Given the description of an element on the screen output the (x, y) to click on. 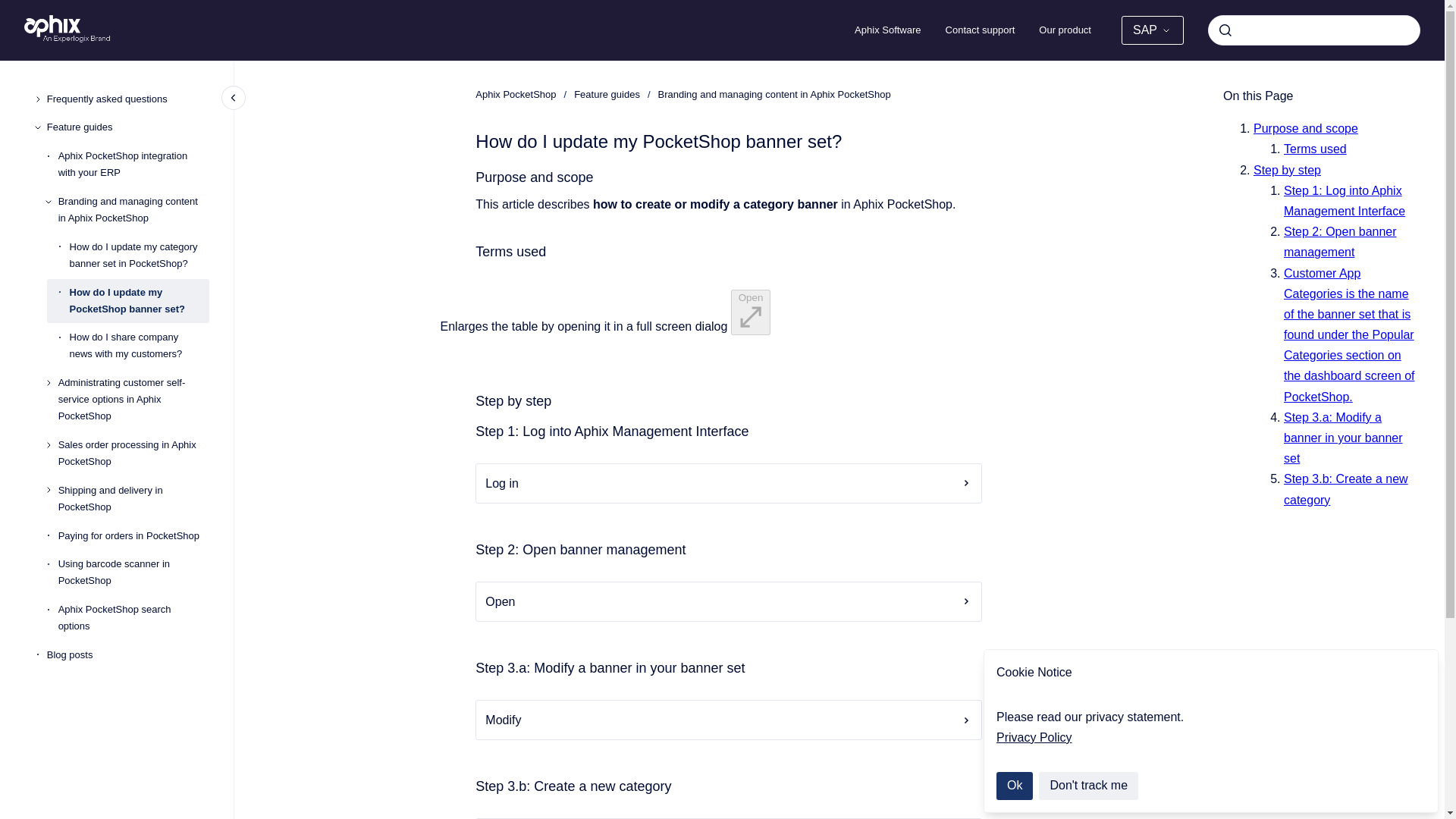
Aphix PocketShop (516, 94)
Privacy Policy (1033, 737)
Aphix PocketShop integration with your ERP (133, 164)
How do I update my PocketShop banner set? (139, 300)
Shipping and delivery in PocketShop (133, 498)
Paying for orders in PocketShop (133, 535)
Using barcode scanner in PocketShop (133, 572)
Contact support (980, 29)
Our product (1064, 29)
